Given the description of an element on the screen output the (x, y) to click on. 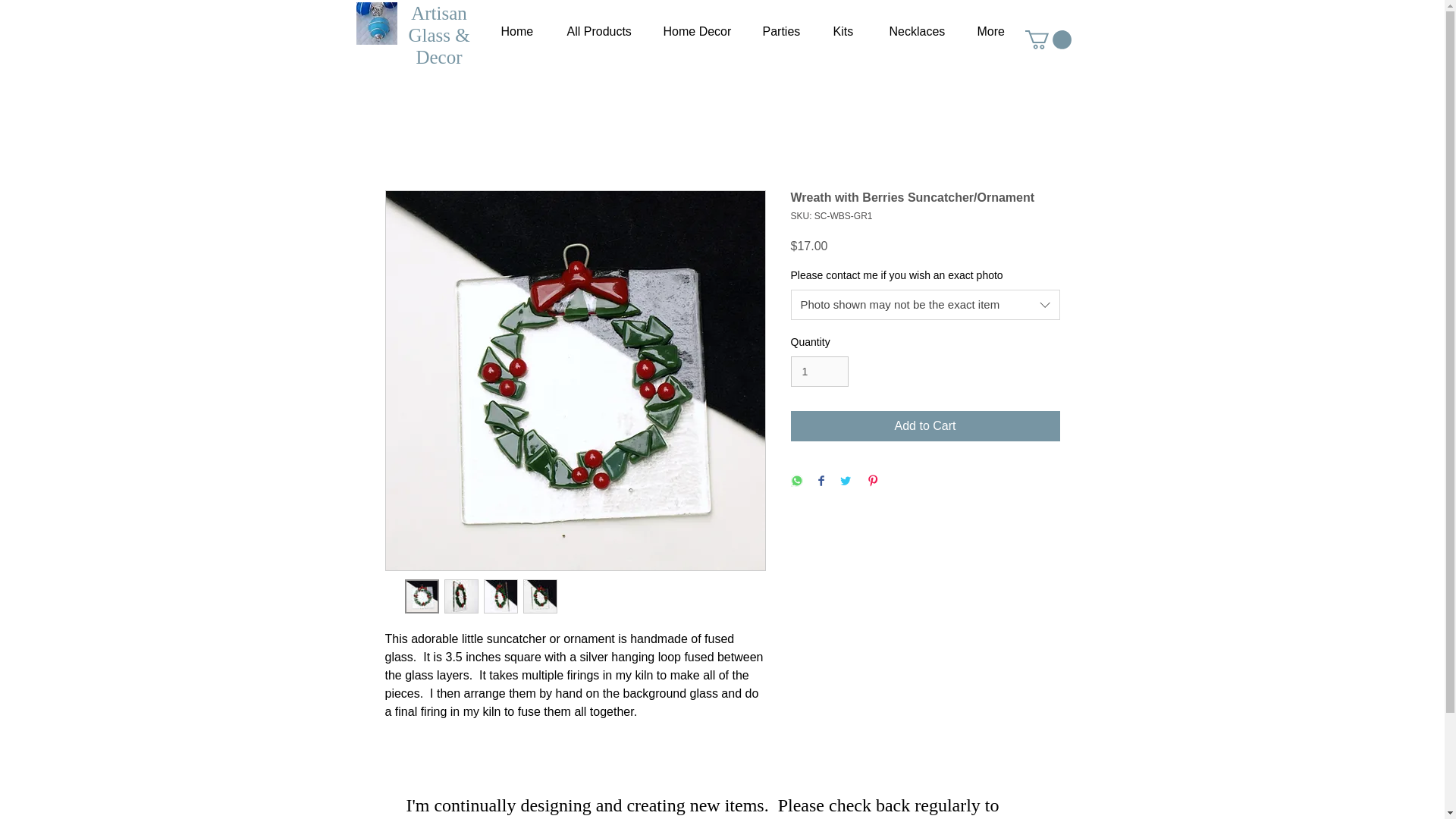
Kits (841, 31)
Home (514, 31)
Home Decor (694, 31)
Add to Cart (924, 426)
Necklaces (914, 31)
All Products (595, 31)
Parties (777, 31)
Photo shown may not be the exact item (924, 304)
fav3.jpg (376, 23)
1 (818, 371)
